Given the description of an element on the screen output the (x, y) to click on. 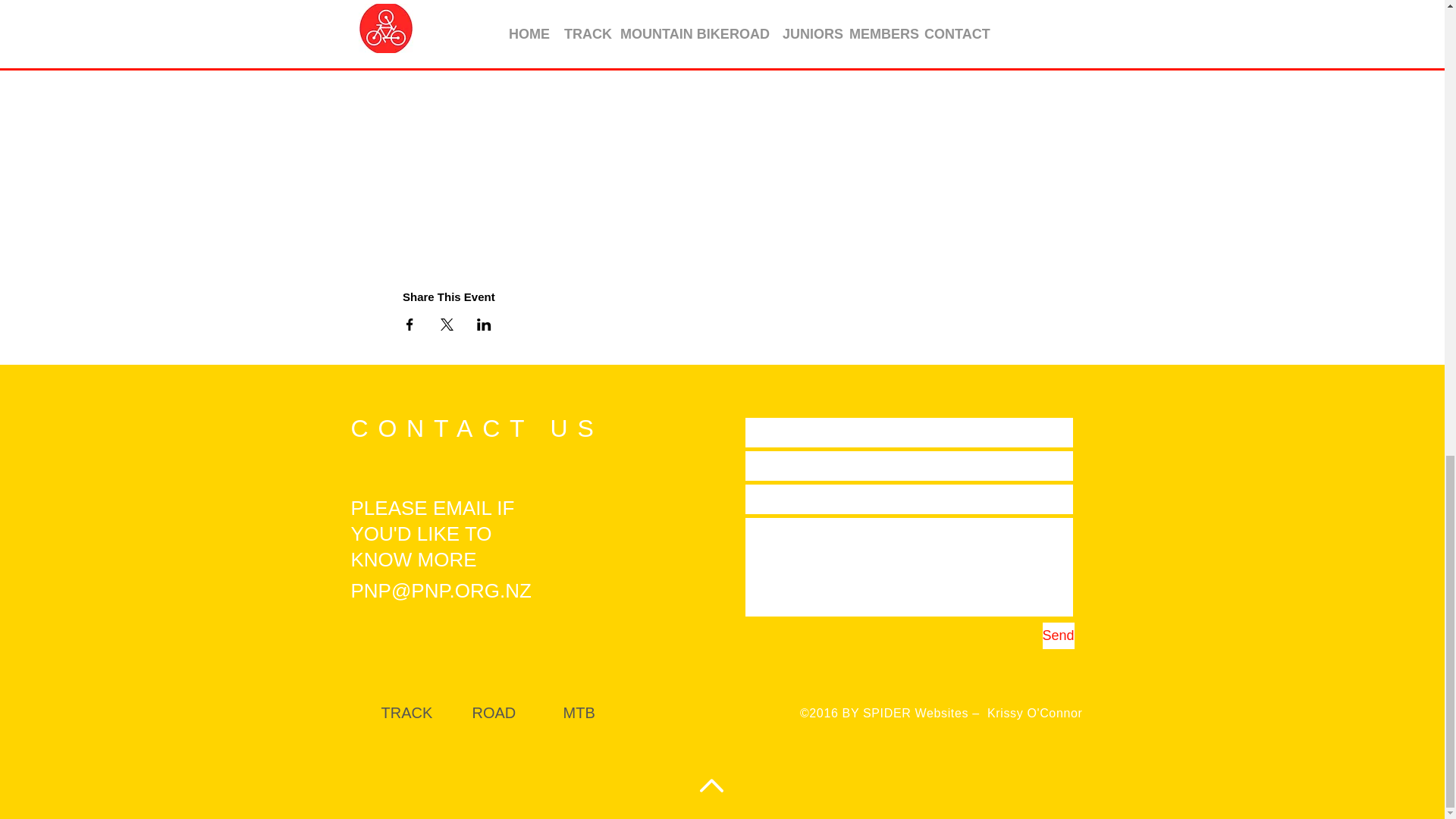
Send (1058, 635)
